Given the description of an element on the screen output the (x, y) to click on. 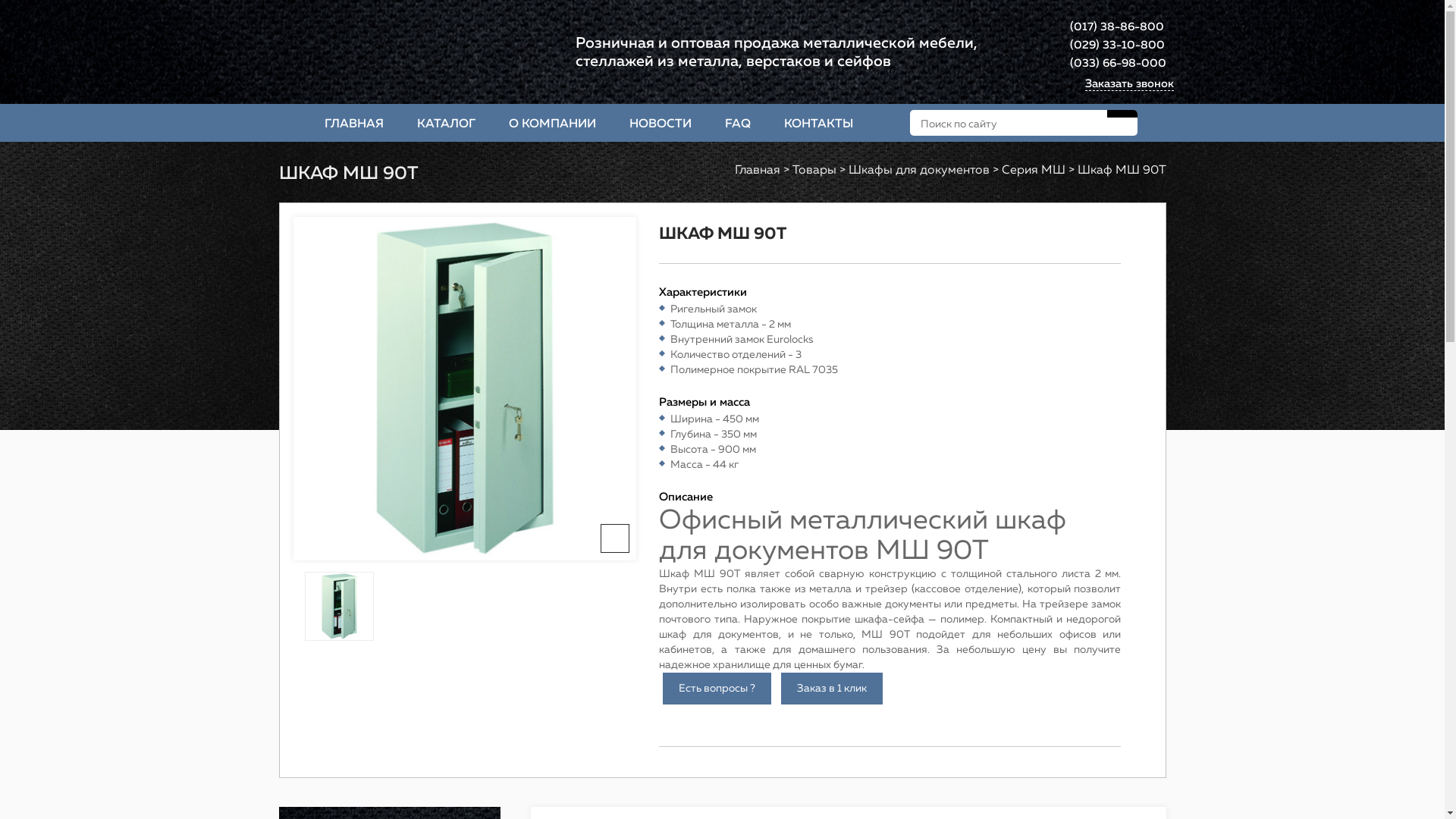
(017) 38-86-800 Element type: text (1116, 27)
Search Element type: text (1122, 113)
FAQ Element type: text (737, 122)
(033) 66-98-000 Element type: text (1117, 63)
(029) 33-10-800 Element type: text (1116, 45)
